Given the description of an element on the screen output the (x, y) to click on. 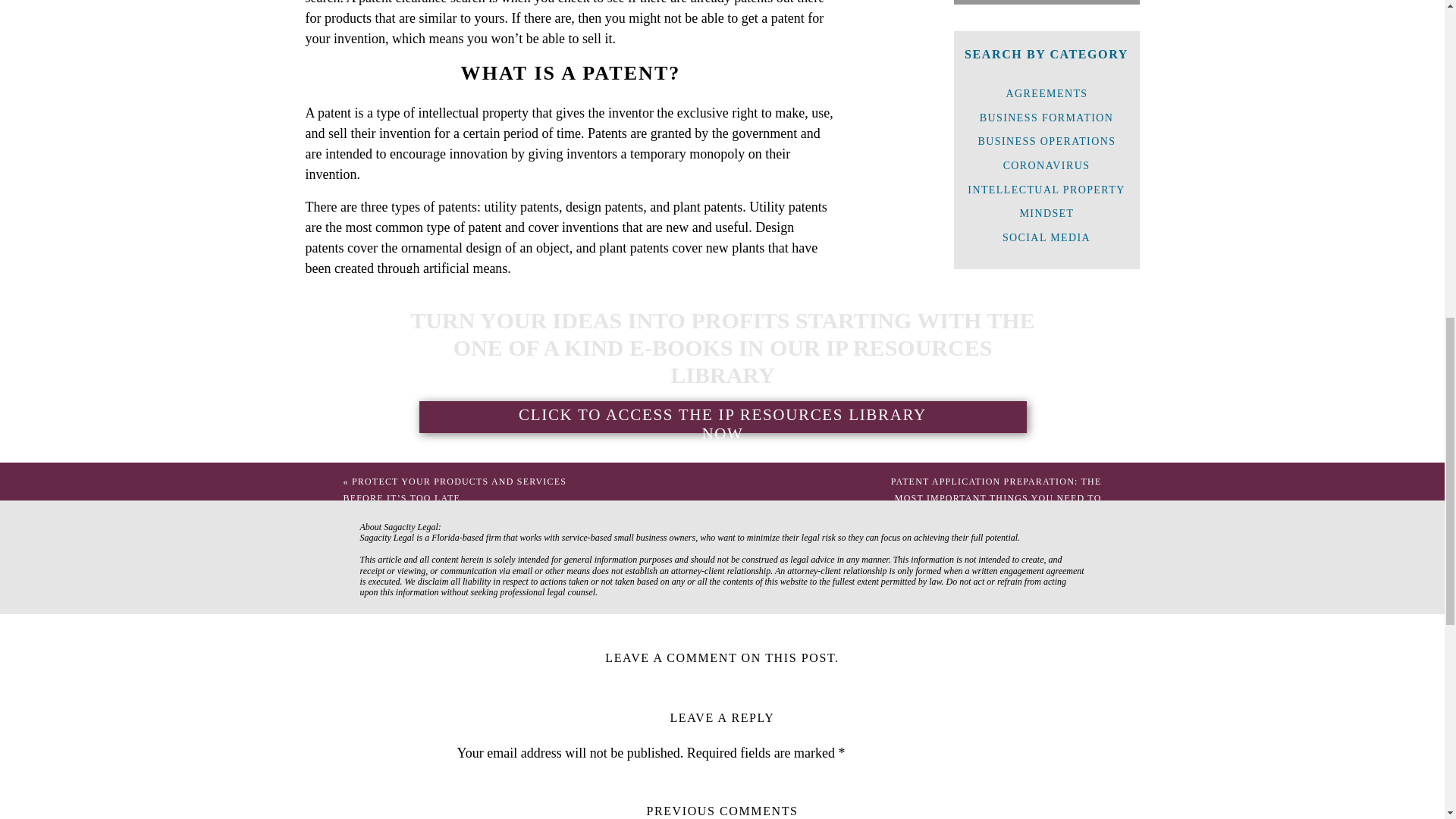
CORONAVIRUS (1046, 164)
BUSINESS OPERATIONS (1045, 140)
SOCIAL MEDIA (1045, 237)
INTELLECTUAL PROPERTY (1046, 188)
BUSINESS FORMATION (1046, 116)
AGREEMENTS (1047, 92)
MINDSET (1046, 212)
